Given the description of an element on the screen output the (x, y) to click on. 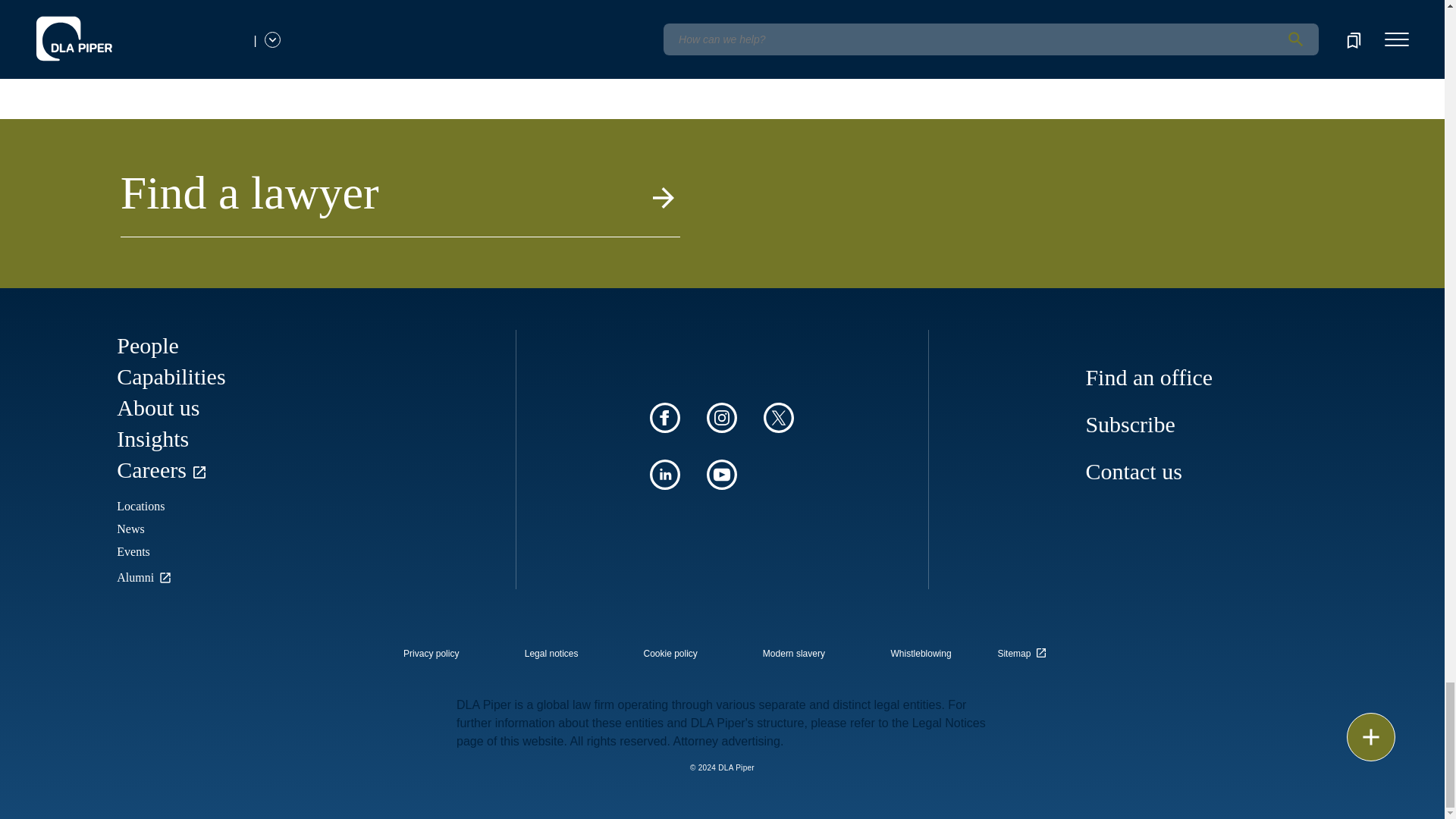
internal (670, 653)
internal (920, 653)
internal (430, 653)
external (1024, 649)
internal (793, 653)
internal (549, 653)
